Given the description of an element on the screen output the (x, y) to click on. 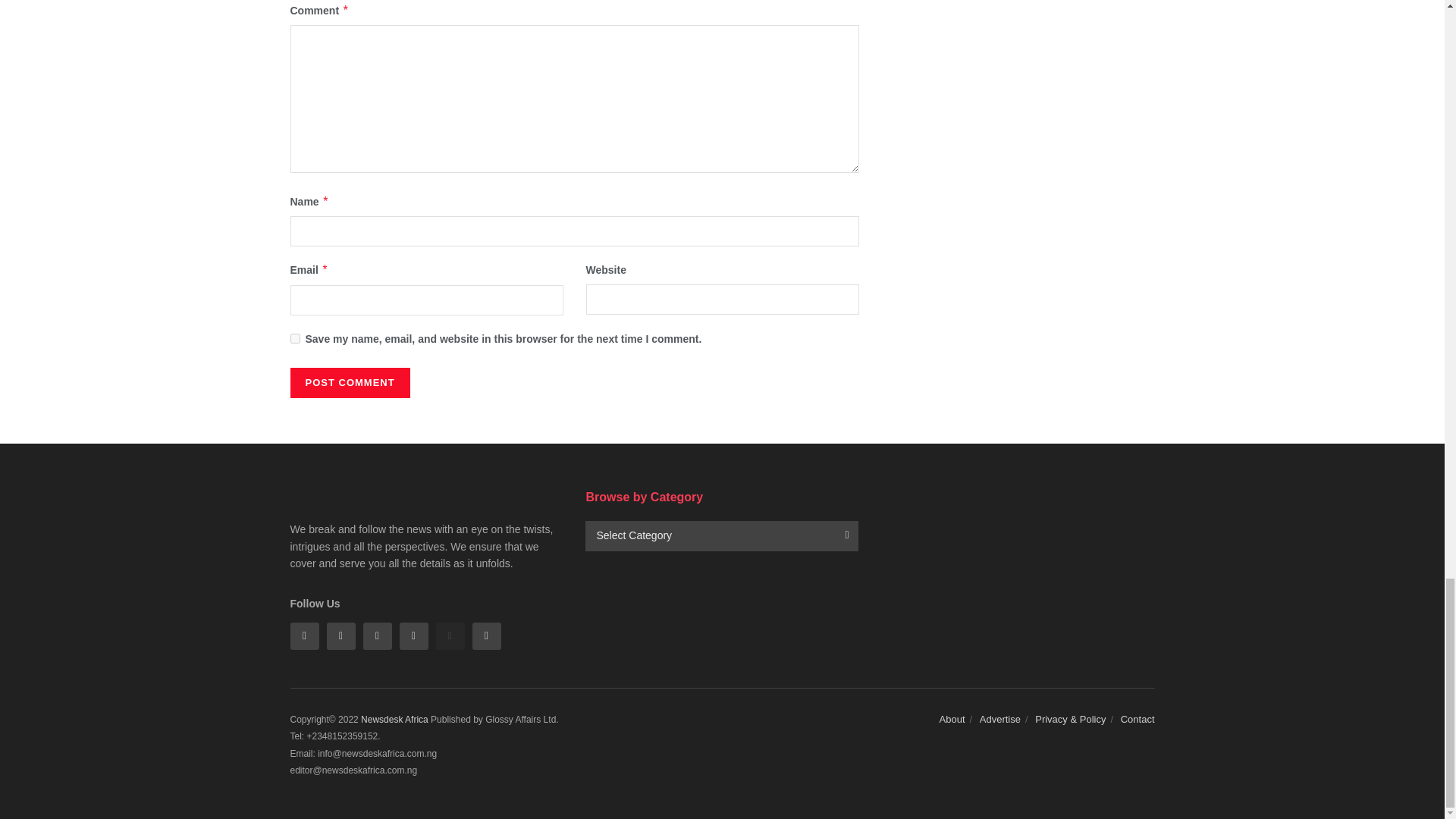
yes (294, 338)
Post Comment (349, 382)
